Given the description of an element on the screen output the (x, y) to click on. 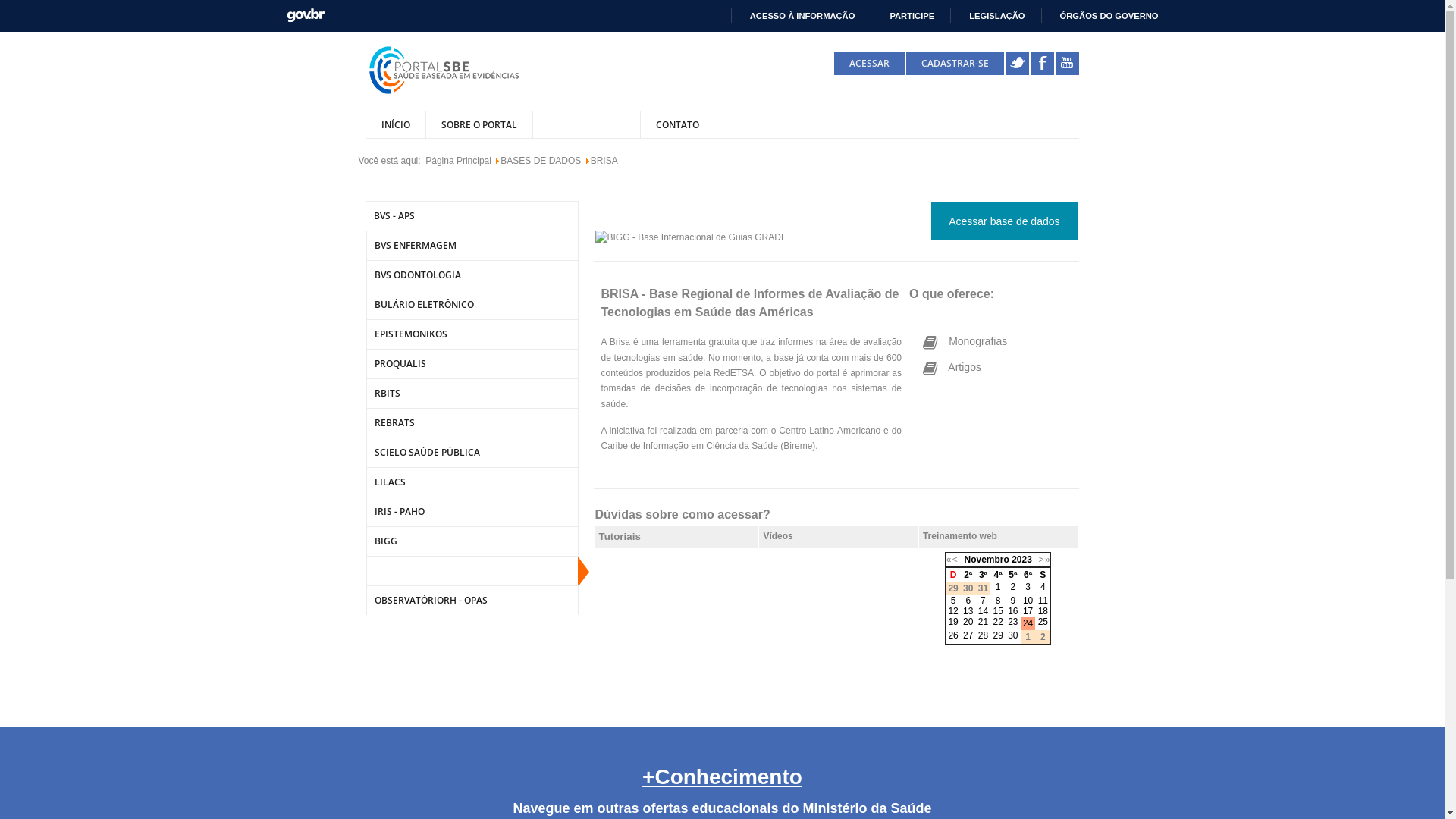
IRIS - PAHO Element type: text (471, 511)
7 Element type: text (982, 600)
26 Element type: text (952, 635)
14 Element type: text (983, 610)
27 Element type: text (967, 635)
BASES DE DADOS Element type: text (541, 160)
BIGG Element type: text (471, 540)
Facebook Element type: text (1041, 63)
BVS ODONTOLOGIA Element type: text (471, 274)
2023 Element type: text (1021, 559)
20 Element type: text (967, 621)
BRISA Element type: text (471, 570)
21 Element type: text (983, 621)
28 Element type: text (983, 635)
10 Element type: text (1027, 600)
4 Element type: text (1042, 586)
19 Element type: text (952, 621)
BASES DE DADOS Element type: text (586, 124)
12 Element type: text (952, 610)
5 Element type: text (953, 600)
Acessar base de dados Element type: text (1003, 221)
24 Element type: text (1027, 623)
13 Element type: text (967, 610)
25 Element type: text (1043, 621)
RBITS Element type: text (471, 392)
11 Element type: text (1043, 600)
BVS ENFERMAGEM Element type: text (471, 245)
6 Element type: text (967, 600)
PROQUALIS Element type: text (471, 363)
17 Element type: text (1027, 610)
30 Element type: text (1012, 635)
ACESSAR Element type: text (869, 63)
15 Element type: text (997, 610)
Novembro Element type: text (985, 559)
PARTICIPE Element type: text (905, 15)
CONTATO Element type: text (677, 124)
SOBRE O PORTAL Element type: text (477, 124)
BVS - APS Element type: text (471, 215)
EPISTEMONIKOS Element type: text (471, 333)
LILACS Element type: text (471, 481)
Youtube Element type: text (1067, 63)
Twitter Element type: text (1017, 63)
29 Element type: text (997, 635)
3 Element type: text (1027, 586)
2 Element type: text (1013, 586)
1 Element type: text (998, 586)
8 Element type: text (998, 600)
23 Element type: text (1012, 621)
9 Element type: text (1013, 600)
REBRATS Element type: text (471, 422)
CADASTRAR-SE Element type: text (954, 63)
GOVBR Element type: text (305, 14)
22 Element type: text (997, 621)
18 Element type: text (1043, 610)
16 Element type: text (1012, 610)
